Given the description of an element on the screen output the (x, y) to click on. 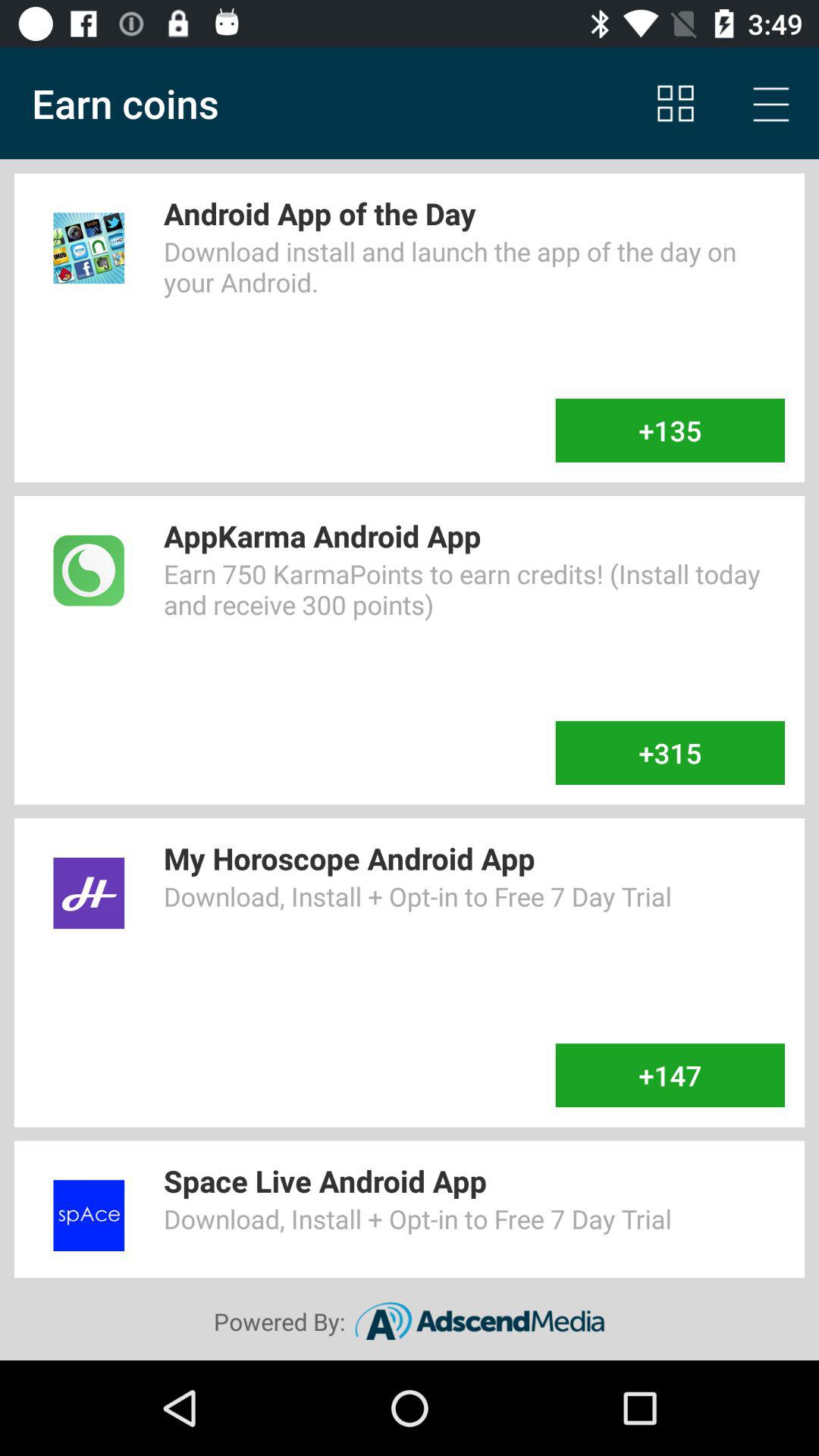
turn off the +147 (669, 1075)
